Given the description of an element on the screen output the (x, y) to click on. 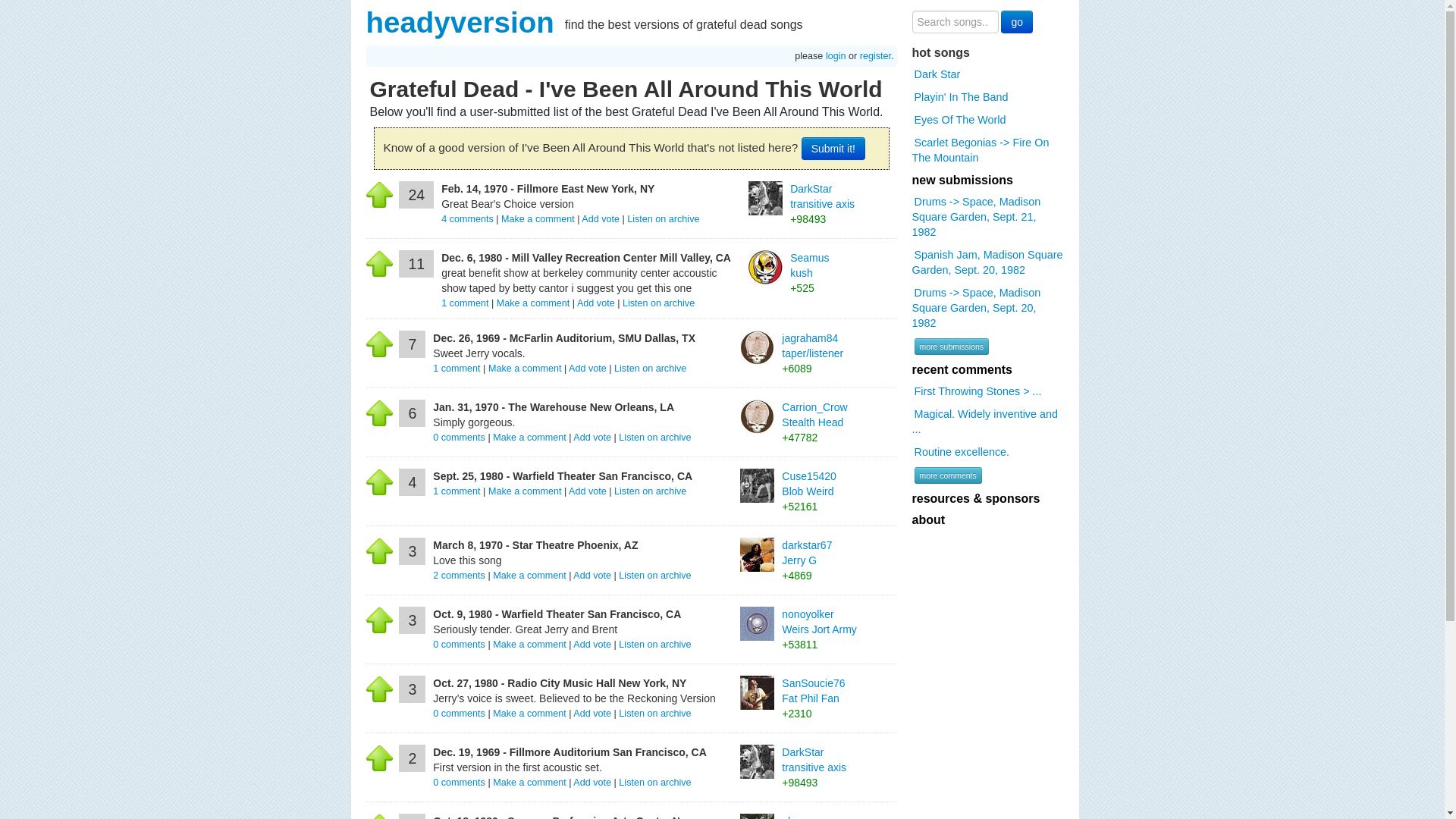
go (1016, 21)
Make a comment (533, 303)
Add vote (600, 218)
March 8, 1970 - Star Theatre Phoenix, AZ (534, 544)
1 comment (457, 368)
headyversion (459, 21)
register (875, 55)
Listen on archive (654, 575)
Add vote (592, 575)
Add vote (592, 437)
